Given the description of an element on the screen output the (x, y) to click on. 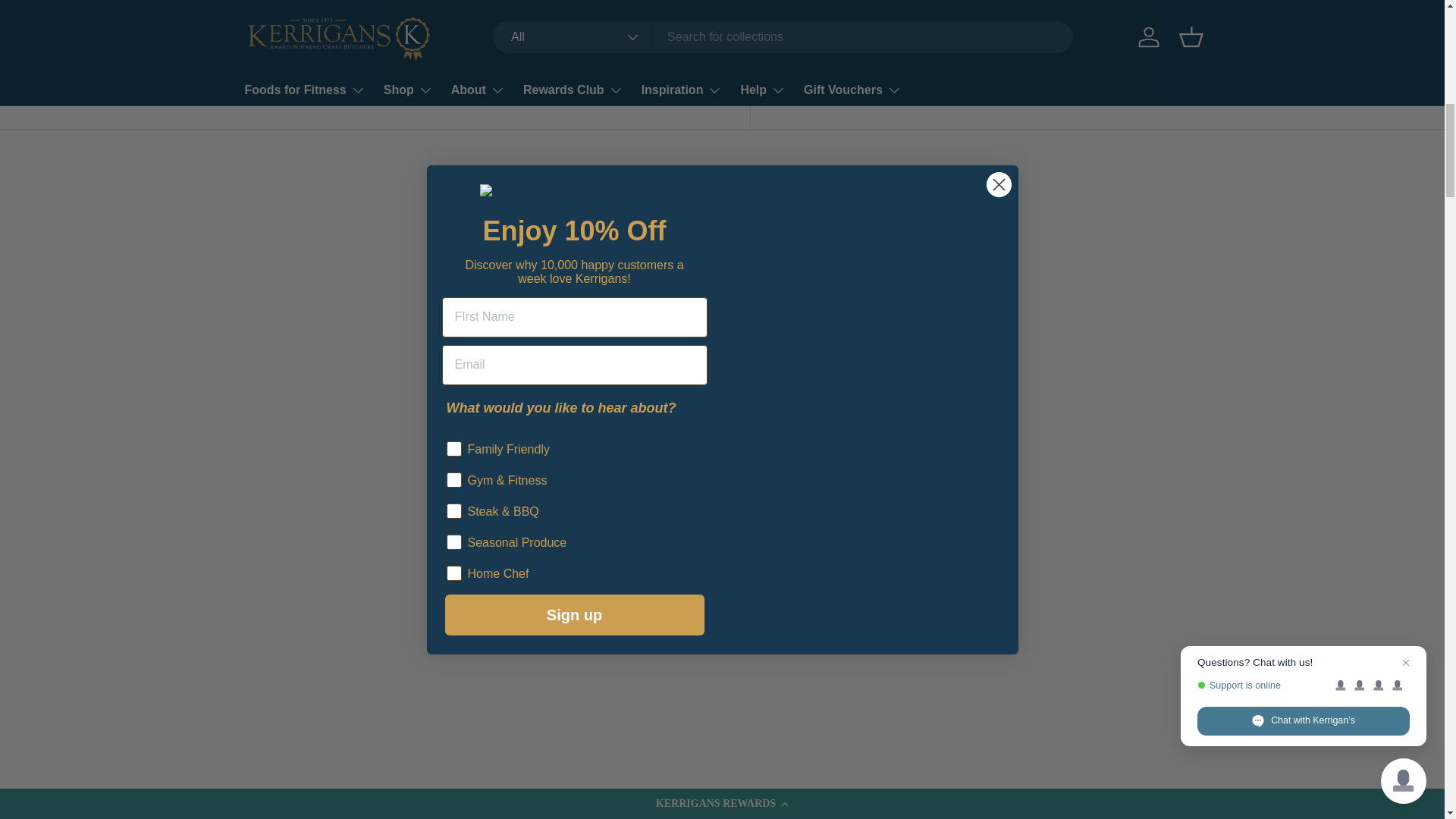
1 (847, 4)
